Given the description of an element on the screen output the (x, y) to click on. 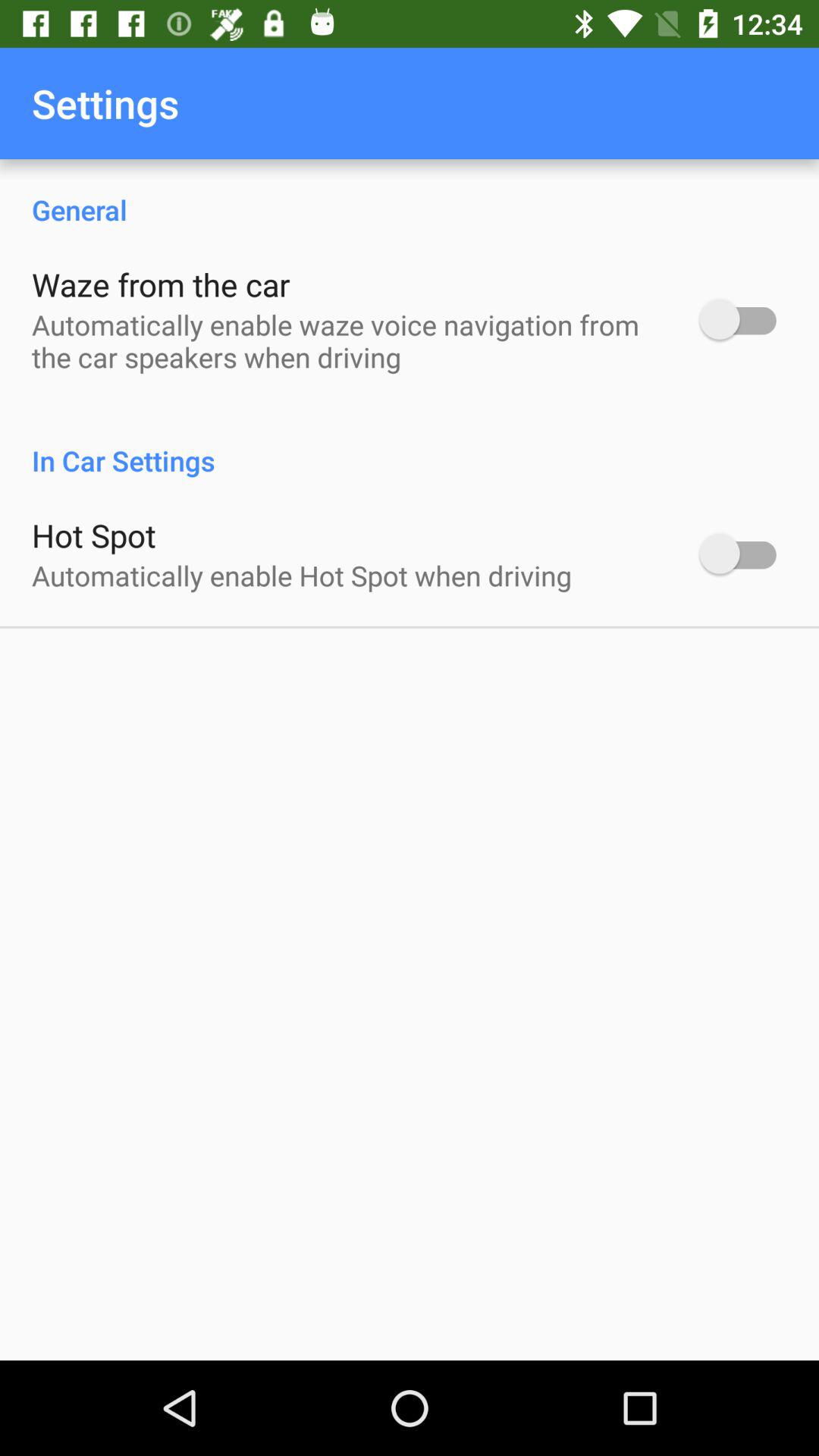
jump to general (409, 193)
